Given the description of an element on the screen output the (x, y) to click on. 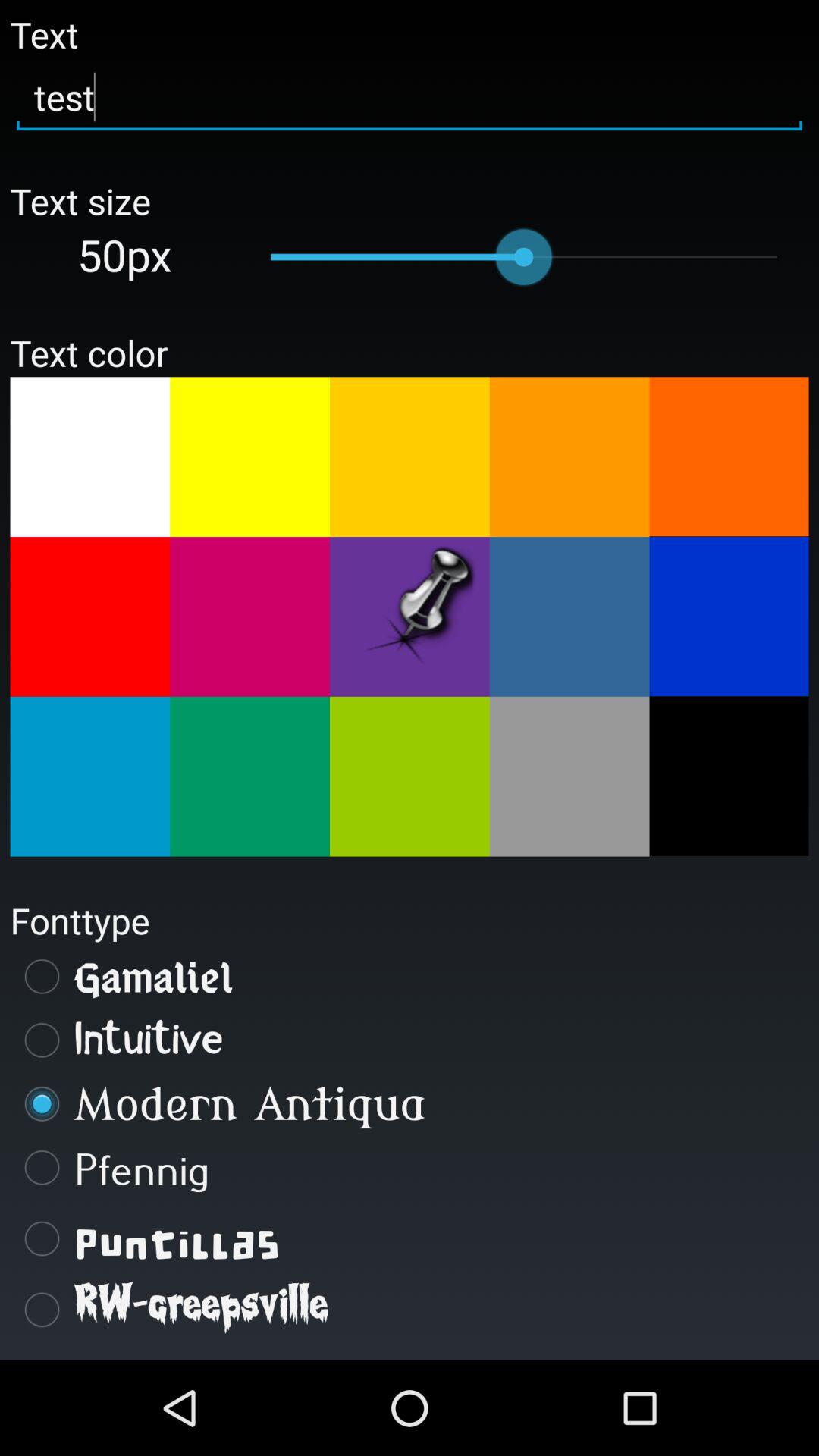
select text color (569, 456)
